Given the description of an element on the screen output the (x, y) to click on. 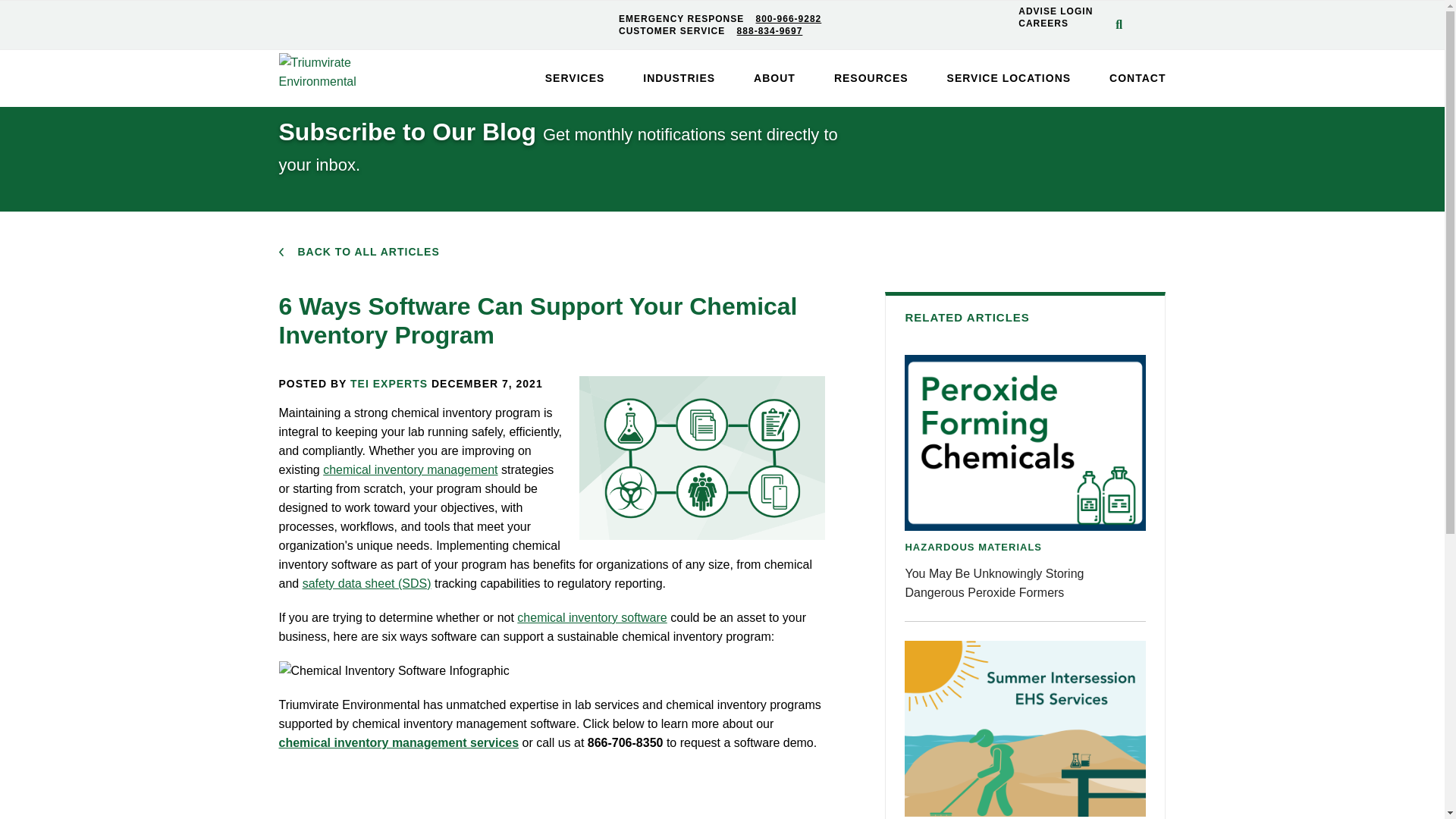
800-966-9282 (784, 18)
ADVISE LOGIN (1055, 10)
Triumvirate Environmental (349, 71)
CAREERS (1055, 23)
888-834-9697 (765, 30)
SERVICES (574, 78)
